Given the description of an element on the screen output the (x, y) to click on. 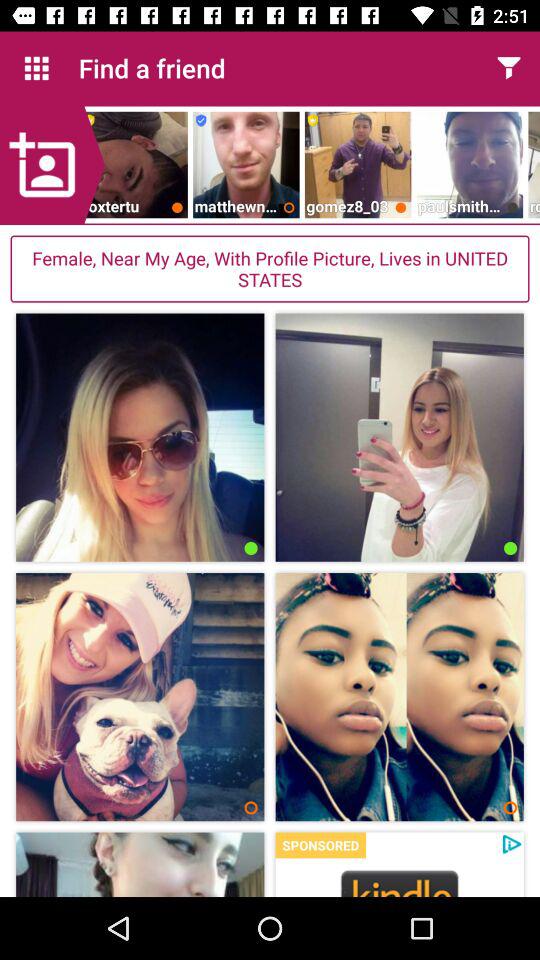
flip until the female near my (269, 268)
